Given the description of an element on the screen output the (x, y) to click on. 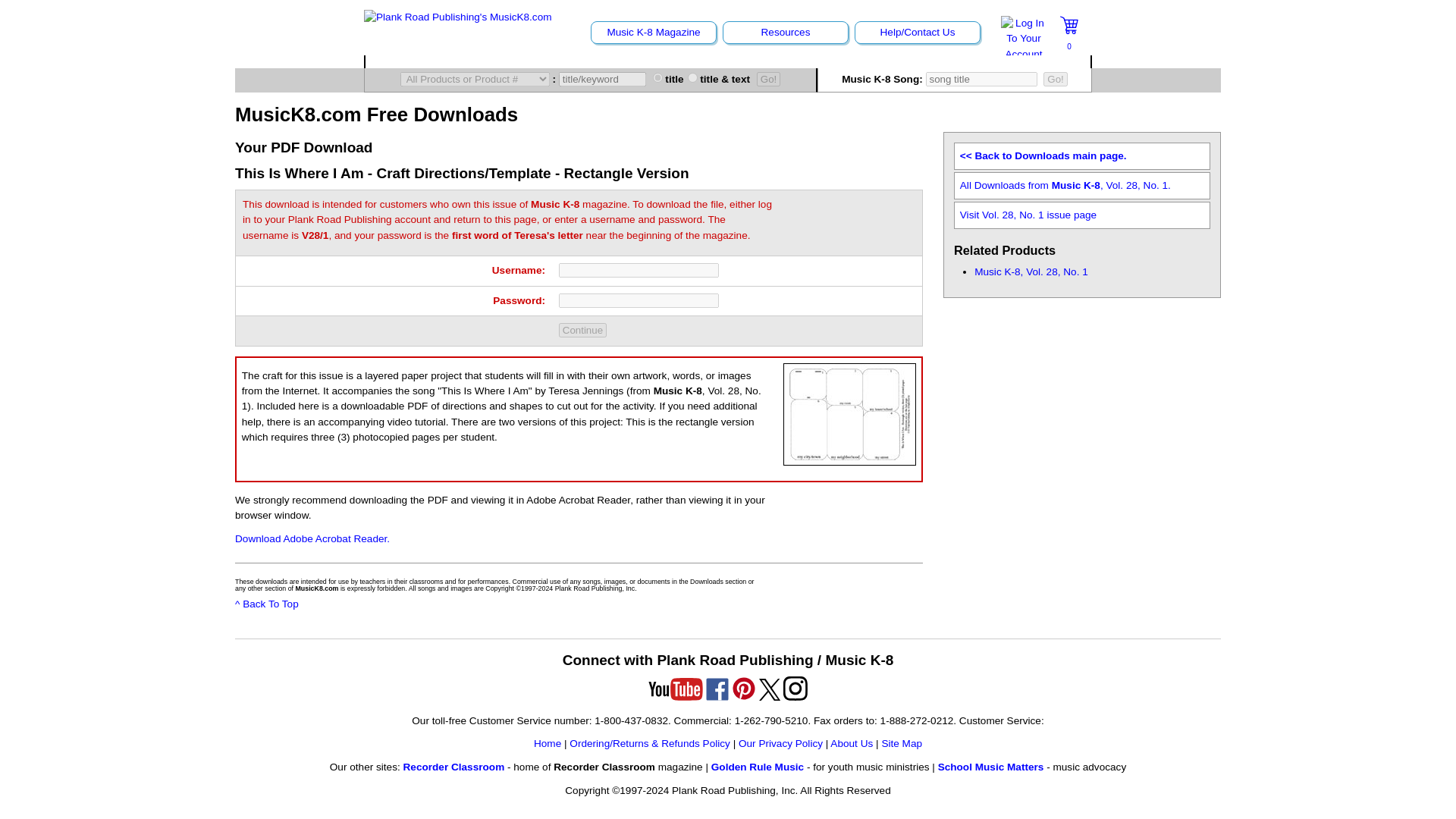
Pinterest (743, 688)
Go! (1055, 79)
New Products (571, 61)
Facebook (717, 689)
MusicK8.com Worldwide (1005, 61)
Go! (768, 79)
title (657, 77)
Music K-8 Magazine (653, 32)
YouTube (675, 689)
Continue (583, 329)
both (692, 77)
Alphabetical Listing (430, 61)
Bestsellers (708, 61)
Instagram (795, 688)
Bargain Outlet (845, 61)
